Given the description of an element on the screen output the (x, y) to click on. 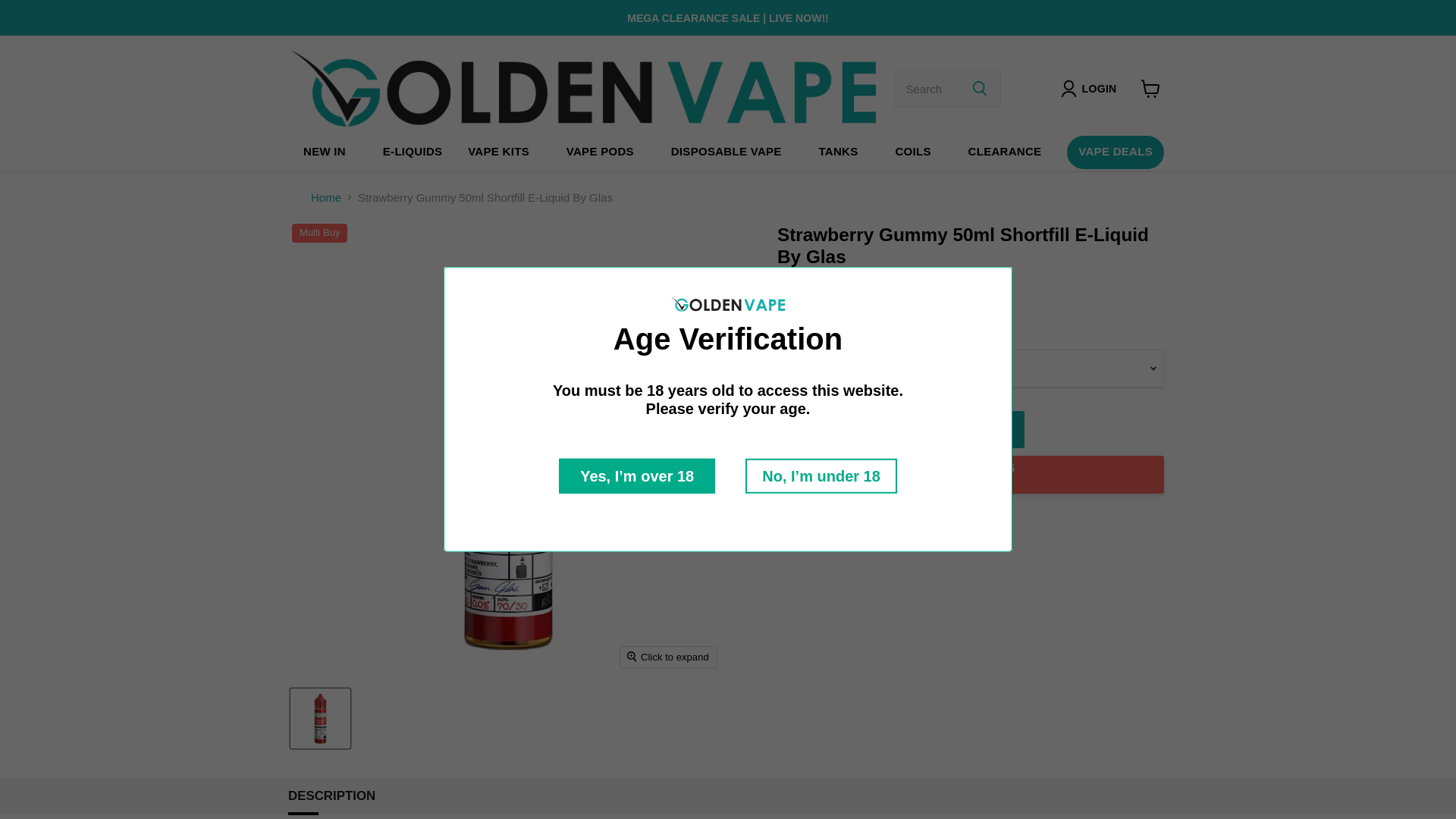
View cart (1150, 88)
E-LIQUIDS (412, 151)
Glas Vapor (841, 278)
NEW IN (324, 151)
LOGIN (1098, 88)
